Given the description of an element on the screen output the (x, y) to click on. 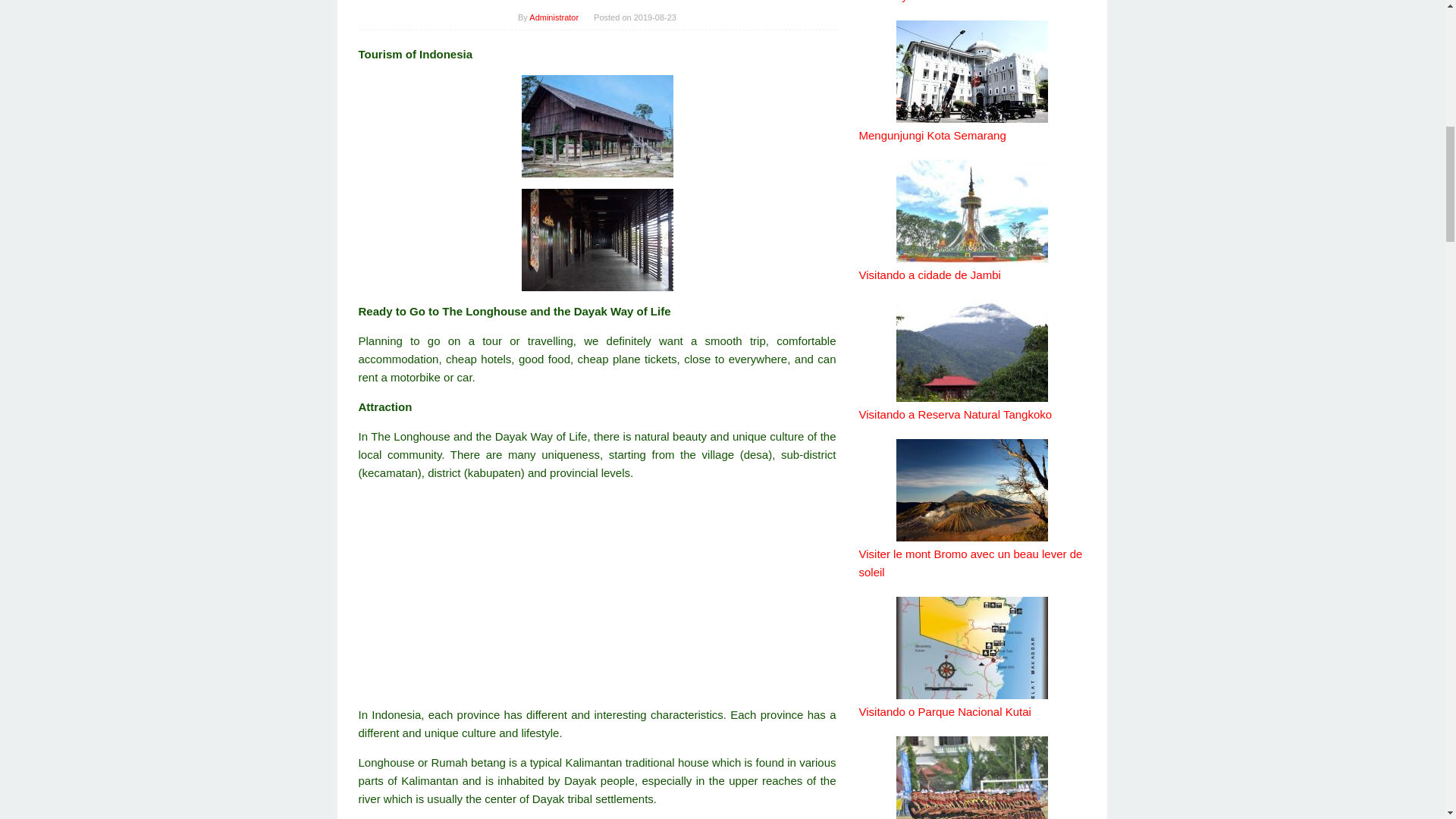
The Longhouse and the Dayak Way of Life 1 (596, 240)
Administrator (553, 17)
Permalink to: Administrator (553, 17)
